Given the description of an element on the screen output the (x, y) to click on. 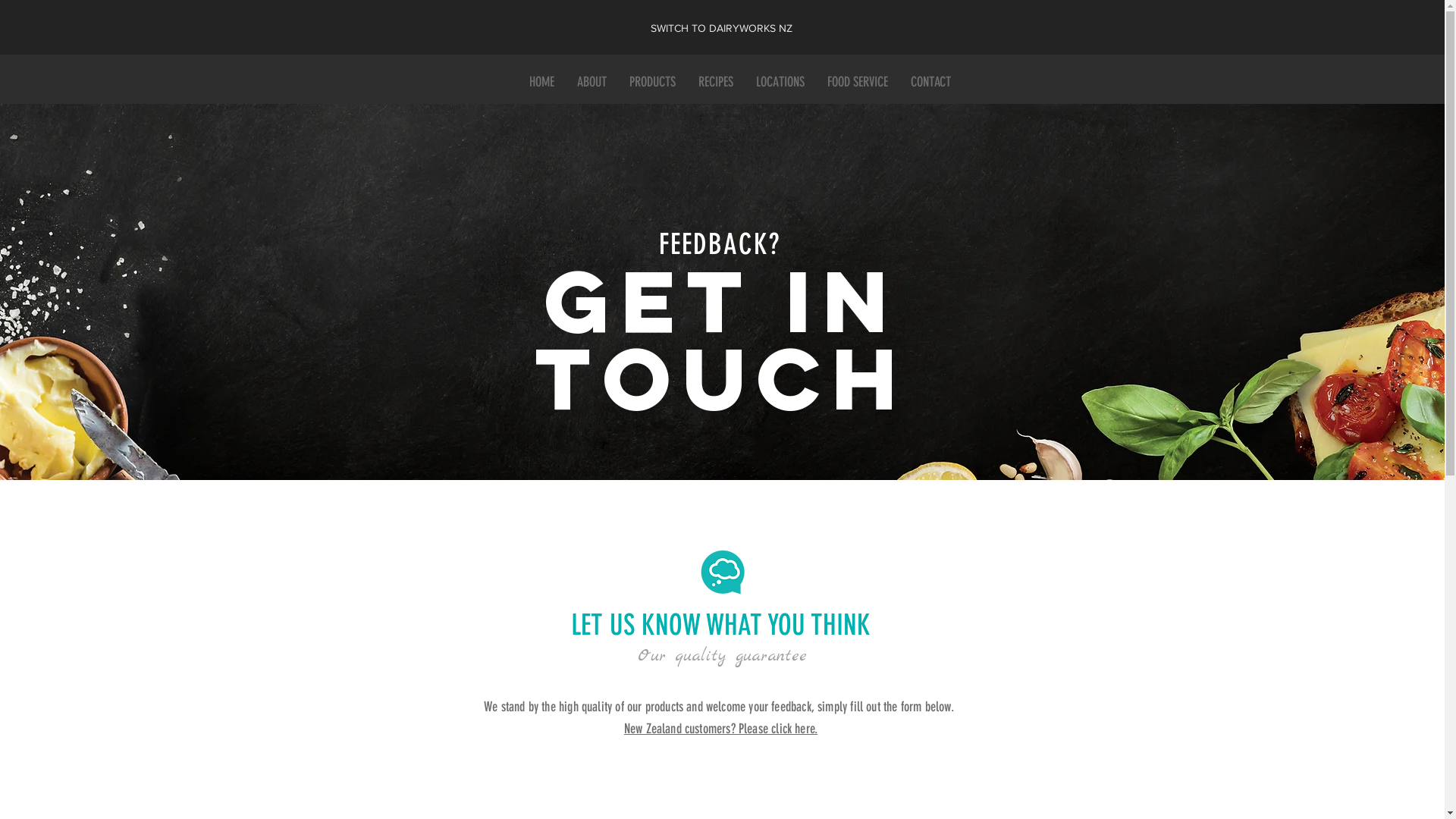
SWITCH TO DAIRYWORKS NZ Element type: text (721, 28)
LOCATIONS Element type: text (779, 82)
New Zealand customers? Please click here. Element type: text (720, 728)
ABOUT Element type: text (591, 82)
Restaurant Social Bar Element type: hover (1340, 72)
FOOD SERVICE Element type: text (857, 82)
RECIPES Element type: text (715, 82)
HOME Element type: text (540, 82)
PRODUCTS Element type: text (651, 82)
CONTACT Element type: text (930, 82)
